Given the description of an element on the screen output the (x, y) to click on. 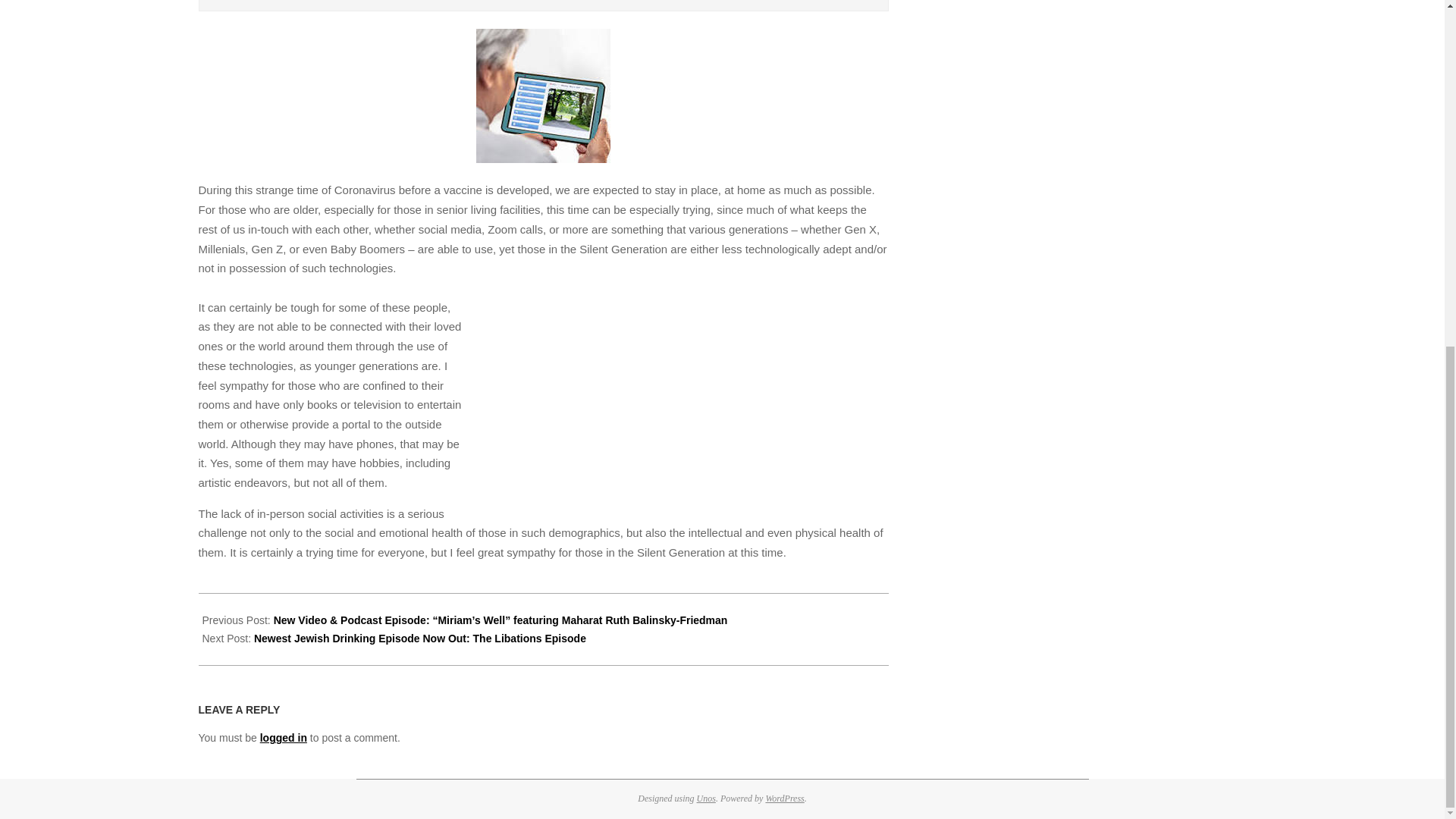
Unos (706, 798)
Unos WordPress Theme (706, 798)
logged in (283, 737)
WordPress (784, 798)
